Given the description of an element on the screen output the (x, y) to click on. 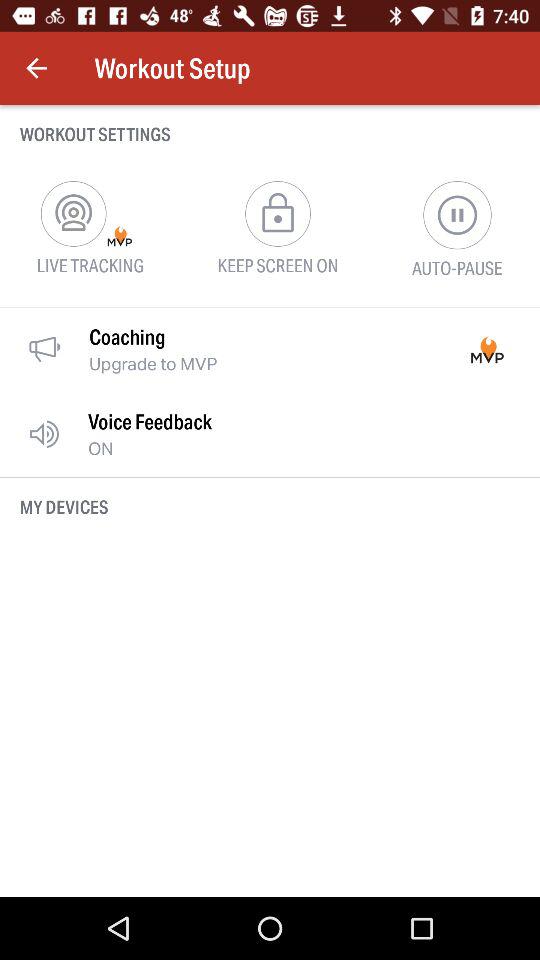
launch item next to the workout setup icon (36, 68)
